Given the description of an element on the screen output the (x, y) to click on. 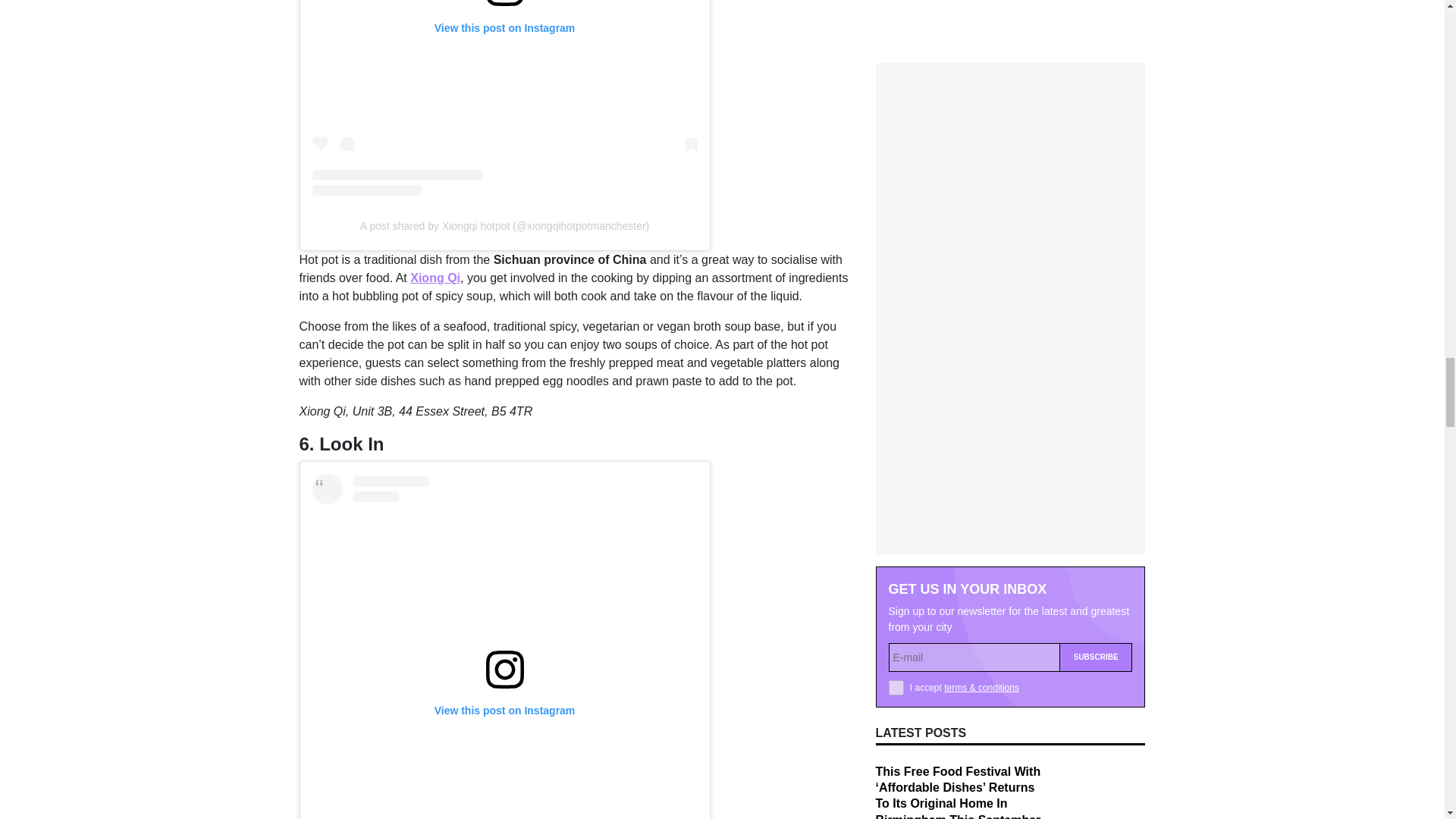
Xiong Qi (435, 277)
View this post on Instagram (505, 646)
View this post on Instagram (505, 98)
